Given the description of an element on the screen output the (x, y) to click on. 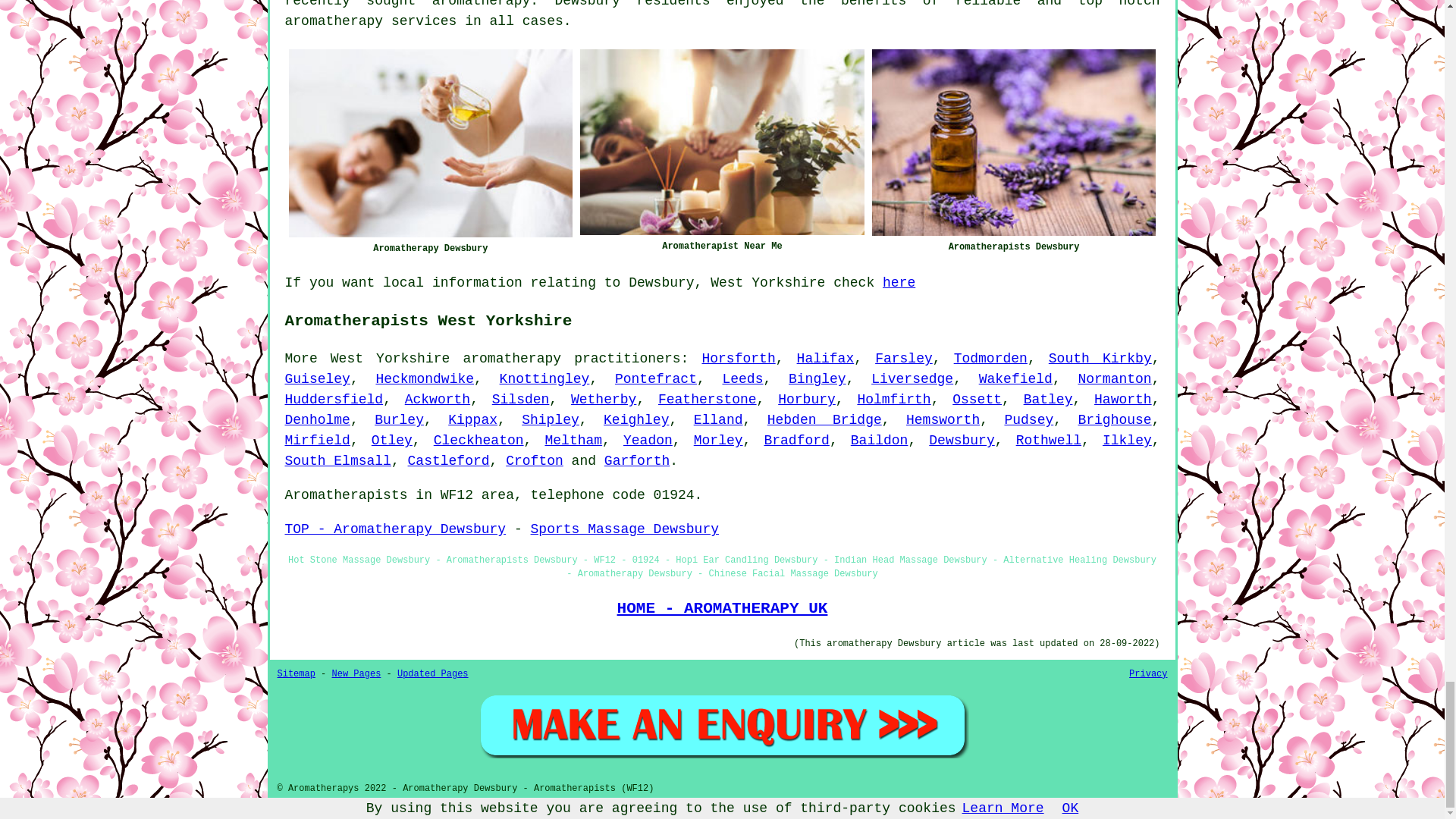
Aromatherapy Dewsbury (430, 142)
